Given the description of an element on the screen output the (x, y) to click on. 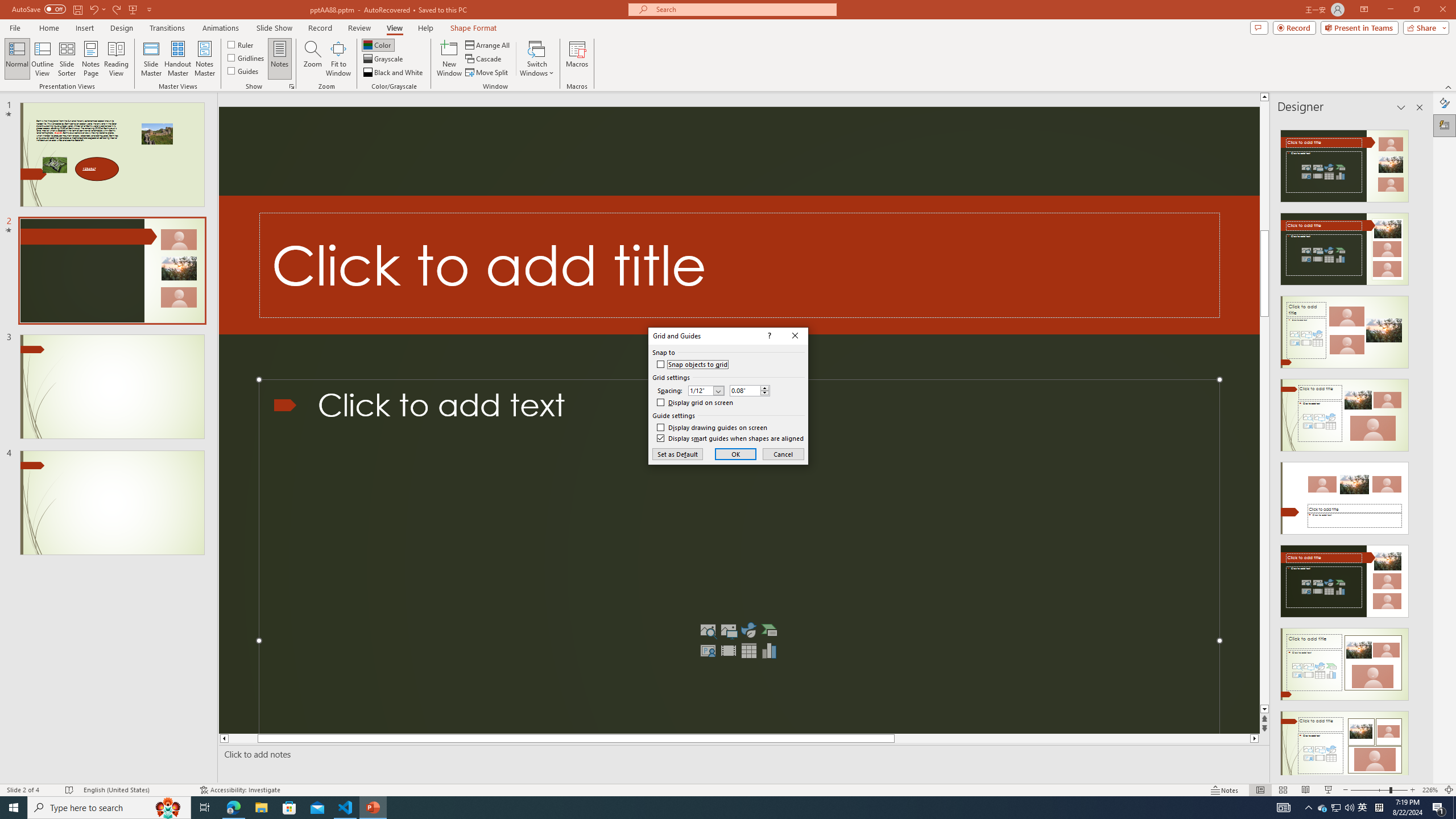
Arrange All (488, 44)
More (765, 387)
Slide Notes (741, 754)
Display drawing guides on screen (712, 427)
Move Split (487, 72)
Running applications (700, 807)
